Given the description of an element on the screen output the (x, y) to click on. 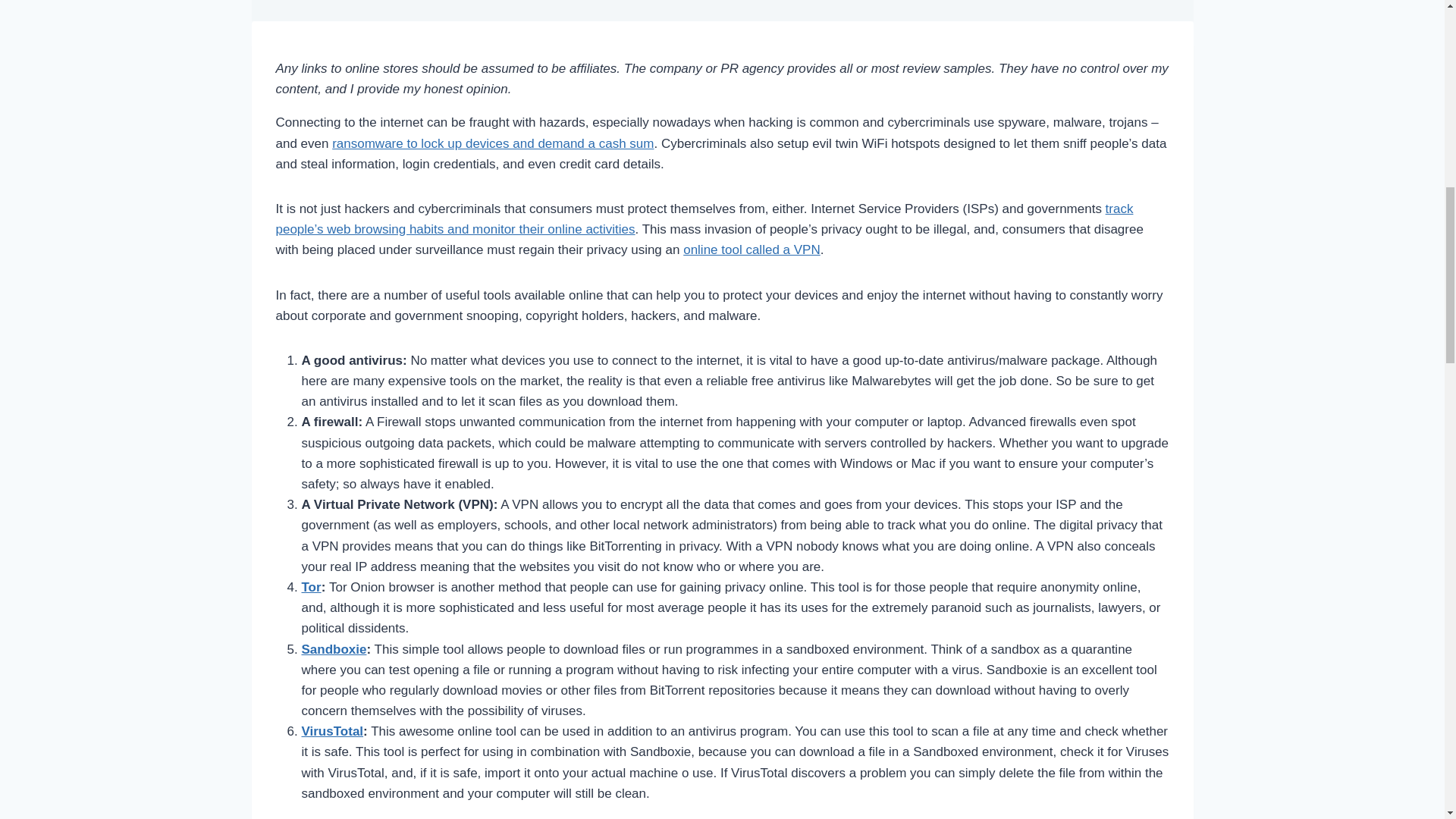
Tor (311, 586)
Sandboxie (333, 648)
online tool called a VPN (751, 249)
security 265130 1920 (722, 10)
VirusTotal (332, 730)
ransomware to lock up devices and demand a cash sum (492, 143)
